Given the description of an element on the screen output the (x, y) to click on. 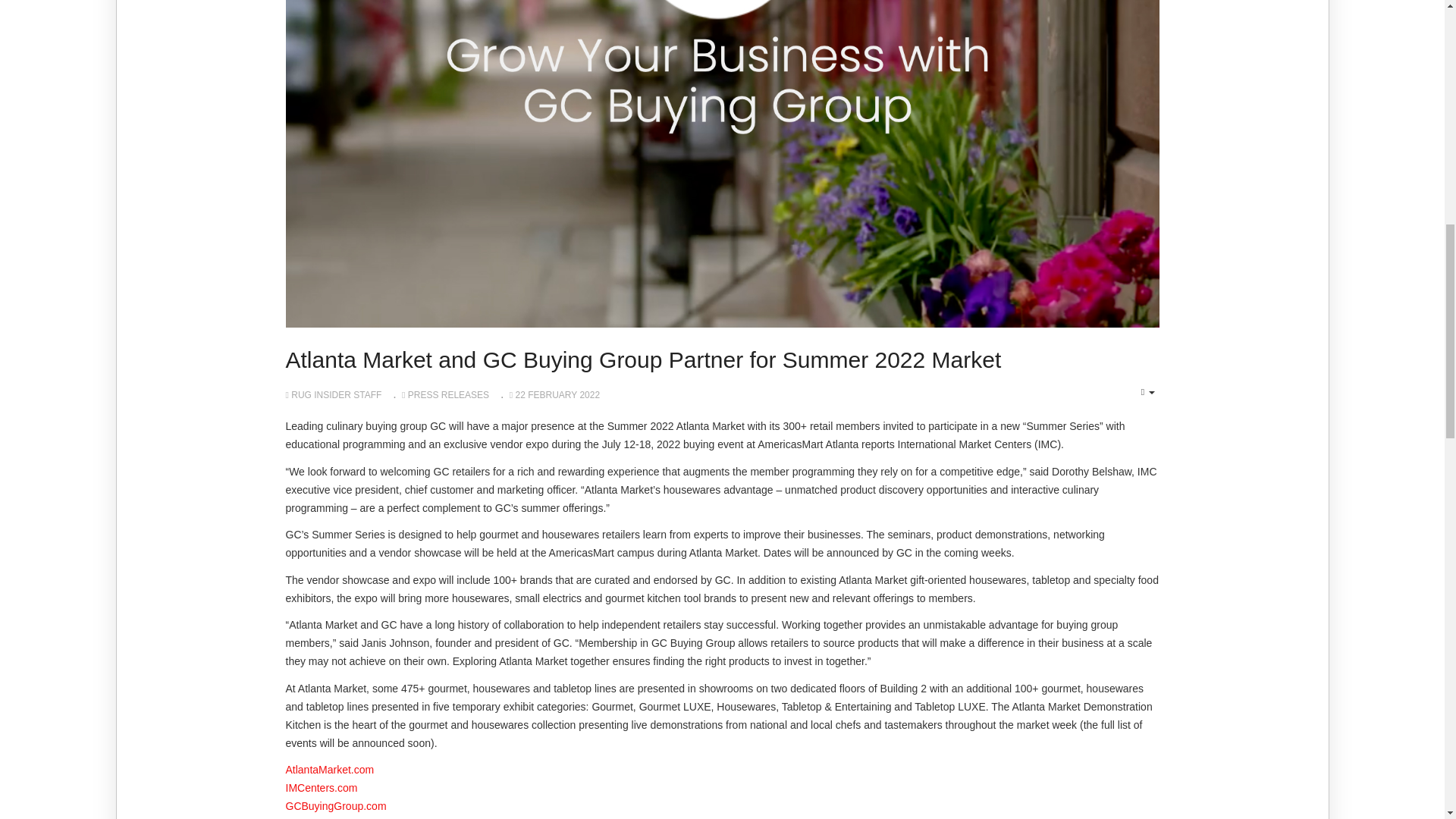
EMPTY (1147, 392)
